Given the description of an element on the screen output the (x, y) to click on. 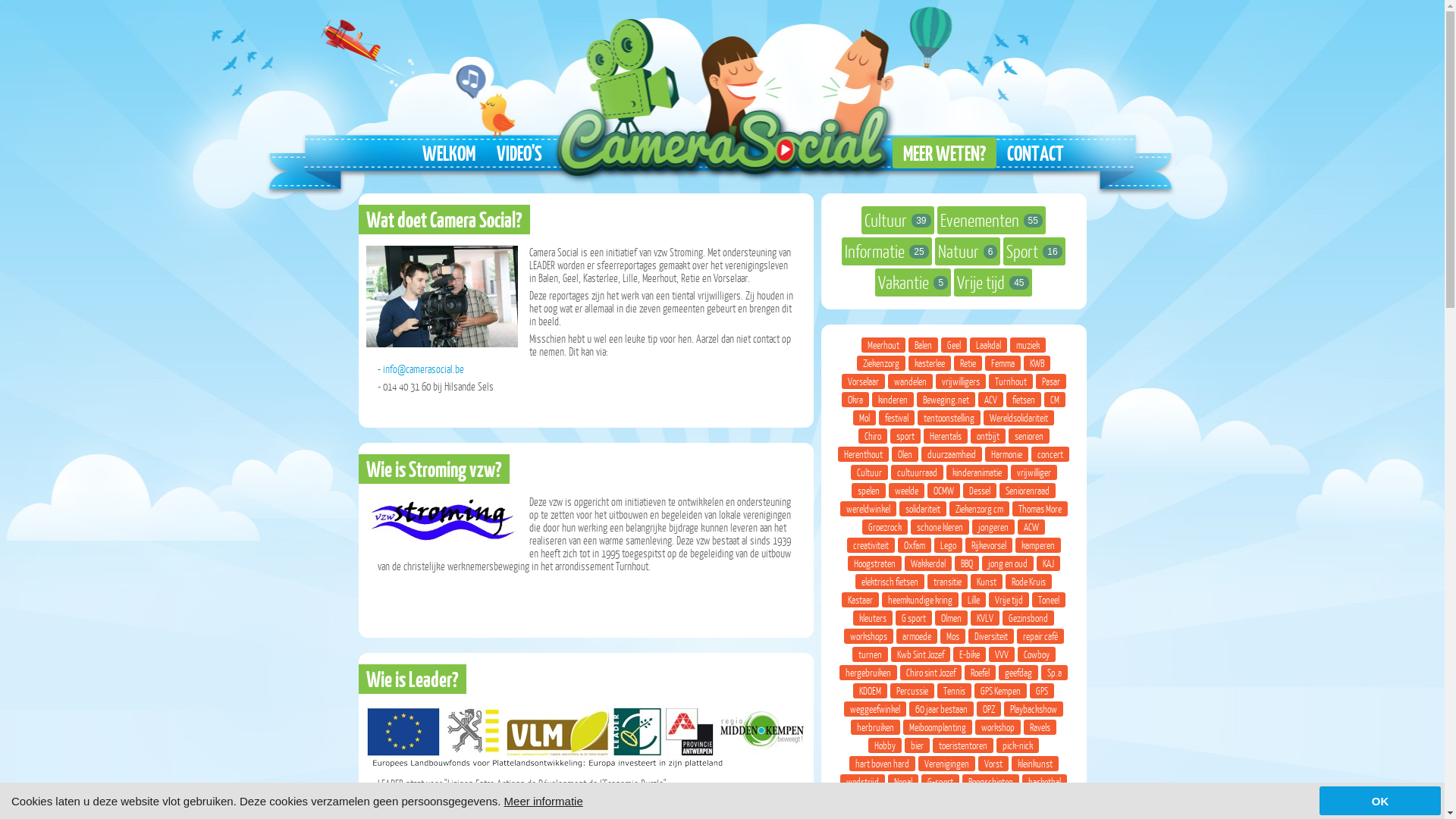
hart boven hard Element type: text (882, 763)
creativiteit Element type: text (870, 544)
Olen Element type: text (904, 453)
Herentals Element type: text (945, 435)
kamperen Element type: text (1037, 544)
Harmonie Element type: text (1006, 453)
Natuur
6 Element type: text (968, 251)
duurzaamheid Element type: text (951, 453)
Sp.a Element type: text (1054, 672)
Wereldsolidariteit Element type: text (1018, 417)
workshops Element type: text (867, 635)
geefdag Element type: text (1018, 672)
OPZ Element type: text (988, 708)
BBQ Element type: text (965, 563)
Meerhout Element type: text (883, 344)
workshop Element type: text (997, 726)
jongeren Element type: text (993, 526)
info@camerasocial.be Element type: text (422, 368)
Mos Element type: text (952, 635)
Herenthout Element type: text (862, 453)
Okra Element type: text (855, 399)
Roefel Element type: text (979, 672)
Cultuur Element type: text (869, 472)
Gezinsbond Element type: text (1028, 617)
Turnhout Element type: text (1010, 381)
VVV Element type: text (1001, 654)
Beweging.net Element type: text (945, 399)
tentoonstelling Element type: text (948, 417)
Hoogstraten Element type: text (874, 563)
Vorselaar Element type: text (862, 381)
Ravels Element type: text (1039, 726)
Rode Kruis Element type: text (1028, 581)
wedstrijd Element type: text (862, 781)
Femma Element type: text (1002, 362)
Natuurpunt Element type: text (932, 799)
GPS Element type: text (1041, 690)
spelen Element type: text (868, 490)
fietsen Element type: text (1023, 399)
G sport Element type: text (913, 617)
OCMW Element type: text (943, 490)
Sport
16 Element type: text (1033, 251)
ACV Element type: text (990, 399)
Laakdal Element type: text (988, 344)
bier Element type: text (916, 745)
wandelen Element type: text (909, 381)
CONTACT Element type: text (1035, 152)
sport Element type: text (905, 435)
kleuters Element type: text (872, 617)
kleinkunst Element type: text (1034, 763)
VIDEO'S Element type: text (518, 152)
wereldwinkel Element type: text (868, 508)
CM Element type: text (1054, 399)
Hobby Element type: text (884, 745)
MEER WETEN? Element type: text (943, 152)
cultuurraad Element type: text (916, 472)
Grote Netewoud Element type: text (995, 799)
Chiro sint Jozef Element type: text (930, 672)
60 jaar bestaan Element type: text (941, 708)
Ziekenzorg cm Element type: text (979, 508)
turnen Element type: text (870, 654)
Cultuur
39 Element type: text (897, 220)
heemkundige kring Element type: text (919, 599)
ACW Element type: text (1030, 526)
Vakantie
5 Element type: text (912, 282)
Toneel Element type: text (1048, 599)
toeristentoren Element type: text (962, 745)
schone kleren Element type: text (939, 526)
basketbal Element type: text (1044, 781)
KWB Element type: text (1036, 362)
WELKOM Element type: text (448, 152)
GPS Kempen Element type: text (1000, 690)
Lille Element type: text (973, 599)
Kwb Sint Jozef Element type: text (919, 654)
Rijkevorsel Element type: text (987, 544)
Diversiteit Element type: text (990, 635)
KDOEM Element type: text (870, 690)
KVLV Element type: text (984, 617)
Dessel Element type: text (979, 490)
festival Element type: text (896, 417)
Vrije tijd
45 Element type: text (992, 282)
solidariteit Element type: text (922, 508)
Percussie Element type: text (912, 690)
Meer informatie Element type: text (543, 800)
OK Element type: text (1379, 800)
Mol Element type: text (864, 417)
muziek Element type: text (1027, 344)
Pasar Element type: text (1050, 381)
armoede Element type: text (916, 635)
Chiro Element type: text (872, 435)
transitie Element type: text (947, 581)
ws Element type: text (1042, 799)
G-sport Element type: text (940, 781)
Informatie
25 Element type: text (886, 251)
kinderanimatie Element type: text (976, 472)
Lego Element type: text (948, 544)
weggeefwinkel Element type: text (875, 708)
kinderen Element type: text (892, 399)
Boogschieten Element type: text (990, 781)
vrijwilliger Element type: text (1033, 472)
Geel Element type: text (953, 344)
hergebruiken Element type: text (868, 672)
senioren Element type: text (1028, 435)
supporters Element type: text (878, 799)
kasterlee Element type: text (929, 362)
Verenigingen Element type: text (945, 763)
Cowboy Element type: text (1036, 654)
Evenementen
55 Element type: text (991, 220)
weelde Element type: text (906, 490)
concert Element type: text (1050, 453)
E-bike Element type: text (968, 654)
Wakkerdal Element type: text (926, 563)
vrijwilligers Element type: text (960, 381)
Vrije tijd Element type: text (1008, 599)
Kunst Element type: text (986, 581)
Groezrock Element type: text (884, 526)
Ziekenzorg Element type: text (880, 362)
Meiboomplanting Element type: text (937, 726)
Playbackshow Element type: text (1033, 708)
KAJ Element type: text (1047, 563)
Vorst Element type: text (993, 763)
Retie Element type: text (967, 362)
Balen Element type: text (923, 344)
Olmen Element type: text (951, 617)
Tennis Element type: text (954, 690)
Oxfam Element type: text (914, 544)
herbruiken Element type: text (875, 726)
Thomas More Element type: text (1038, 508)
Nepal Element type: text (903, 781)
ontbijt Element type: text (987, 435)
Seniorenraad Element type: text (1027, 490)
jong en oud Element type: text (1006, 563)
elektrisch fietsen Element type: text (889, 581)
Kastaar Element type: text (859, 599)
pick-nick Element type: text (1017, 745)
